Given the description of an element on the screen output the (x, y) to click on. 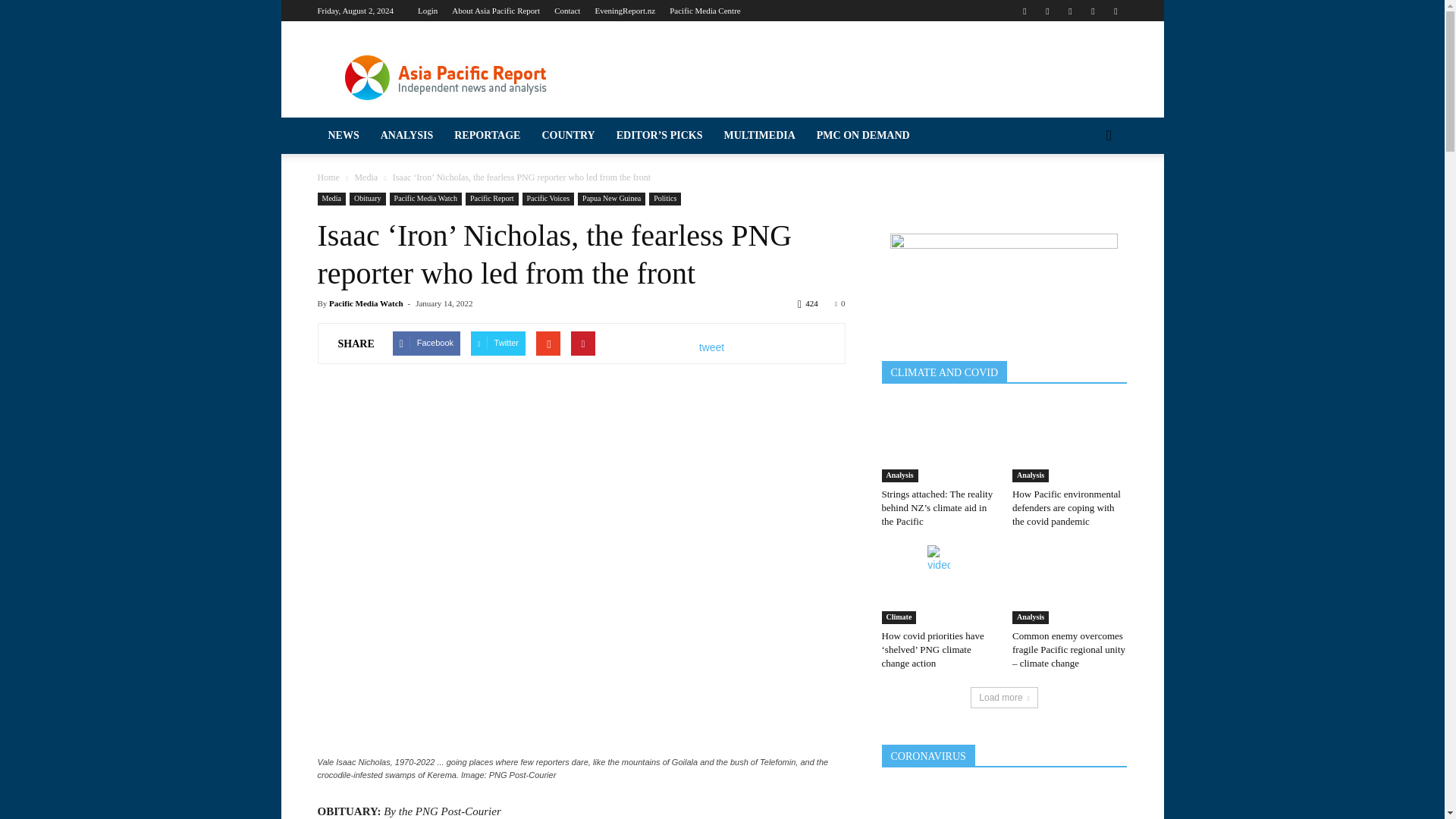
Marshall Islands (140, 480)
Mail (1046, 10)
Samoa (140, 710)
COUNTRY (140, 275)
Cook Islands (140, 364)
Pacific Report (140, 306)
APJS newsfile (140, 215)
Tokelau (140, 815)
Tahiti (140, 767)
Papua New Guinea (140, 652)
ANALYSIS (140, 91)
Youtube (1114, 10)
Niue (140, 594)
Asia Pacific Report (445, 76)
Timor-Leste (140, 796)
